Given the description of an element on the screen output the (x, y) to click on. 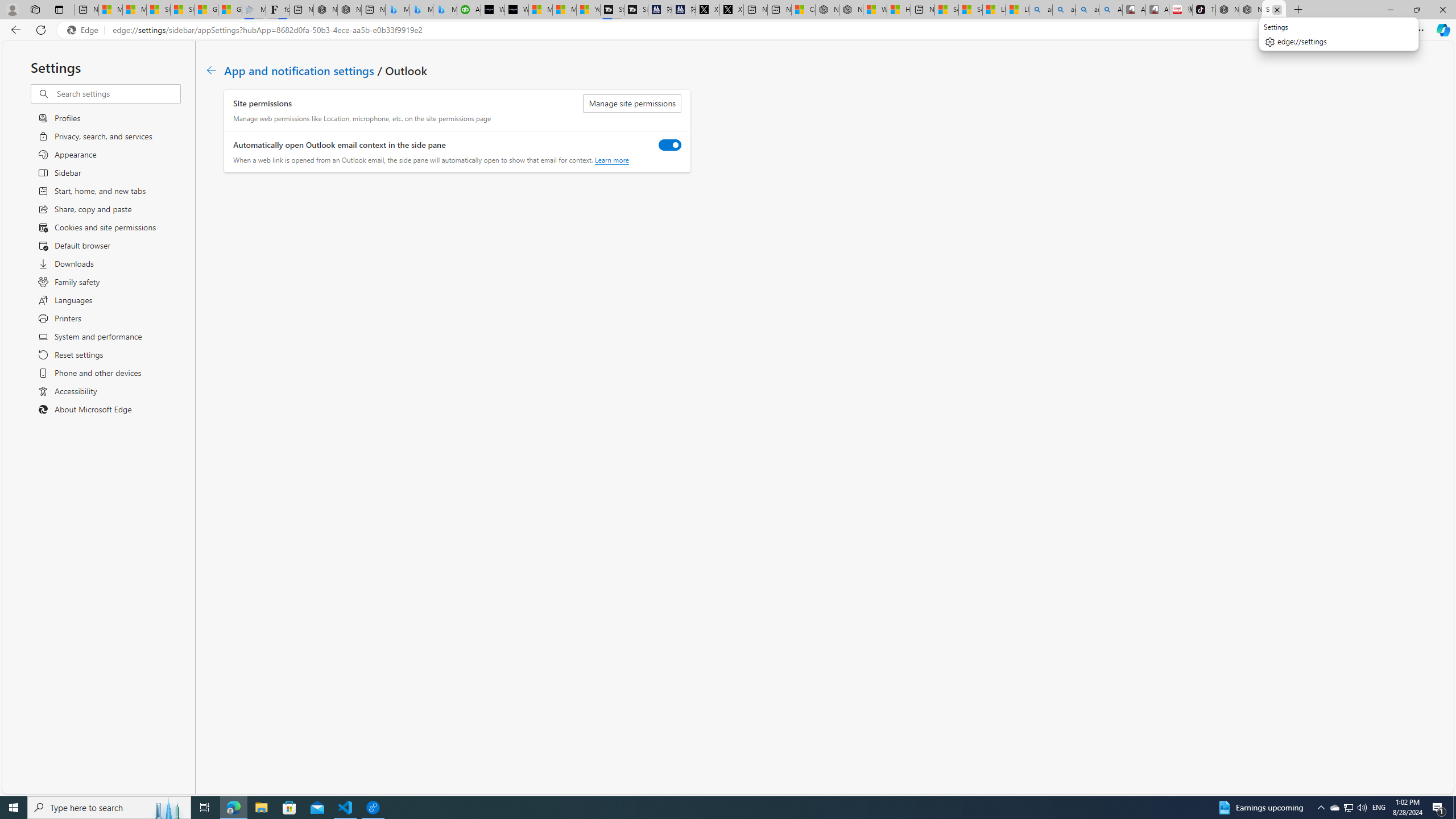
TikTok (1204, 9)
Huge shark washes ashore at New York City beach | Watch (898, 9)
Accounting Software for Accountants, CPAs and Bookkeepers (469, 9)
Manage site permissions (631, 103)
